Given the description of an element on the screen output the (x, y) to click on. 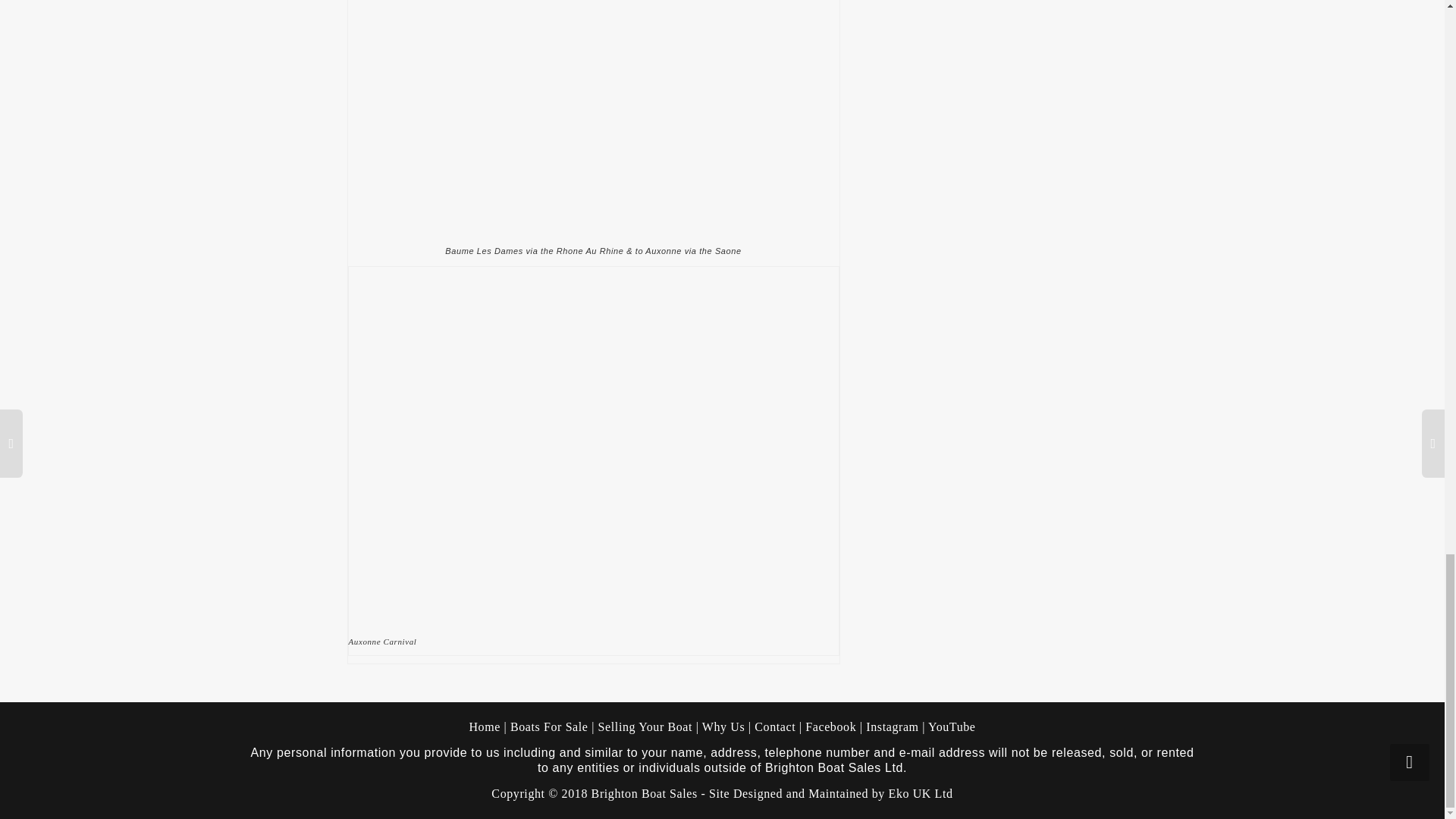
Selling Your Boat (646, 726)
Boats For Sale (549, 726)
Home (484, 726)
